Given the description of an element on the screen output the (x, y) to click on. 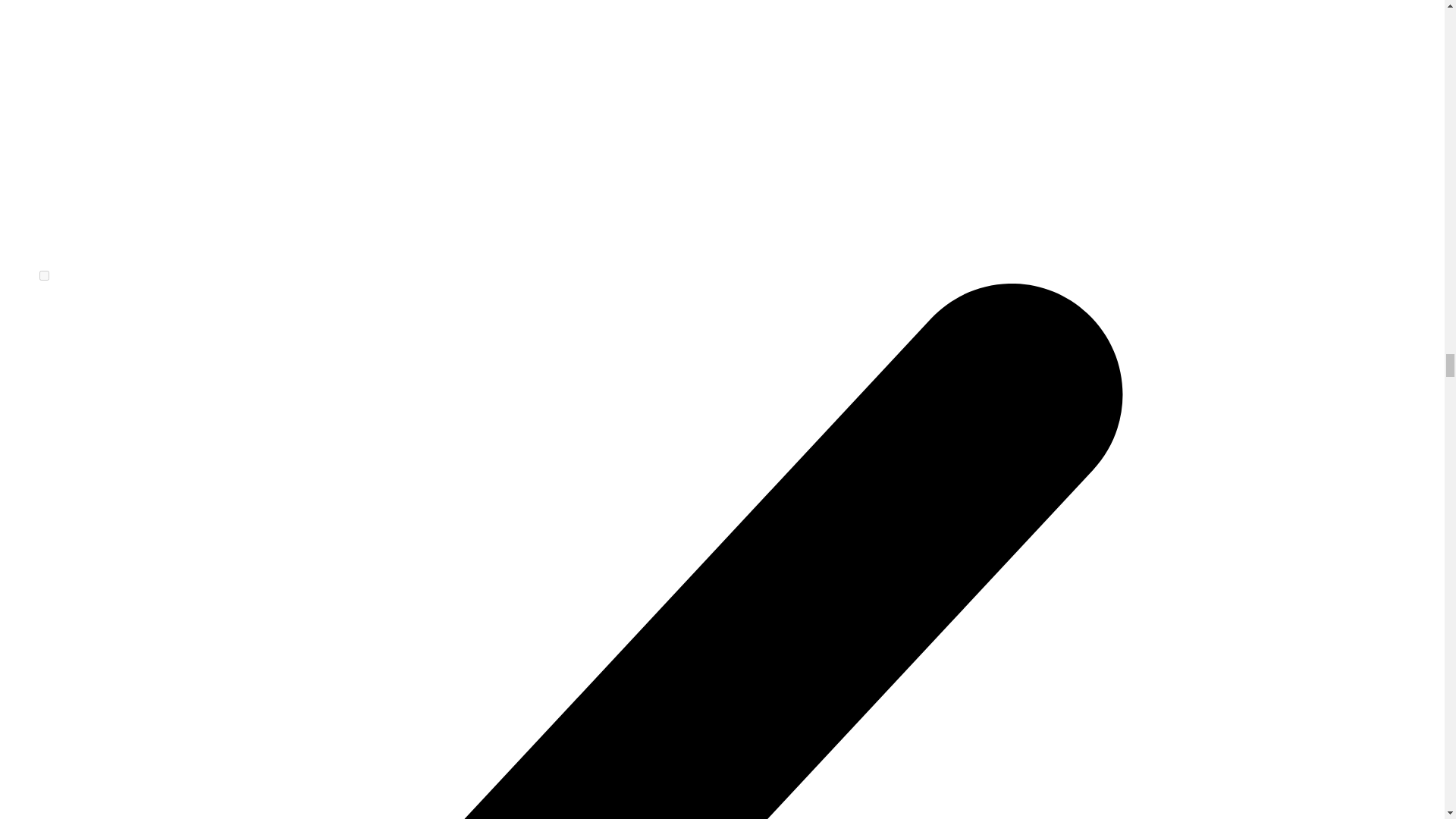
on (44, 275)
